Given the description of an element on the screen output the (x, y) to click on. 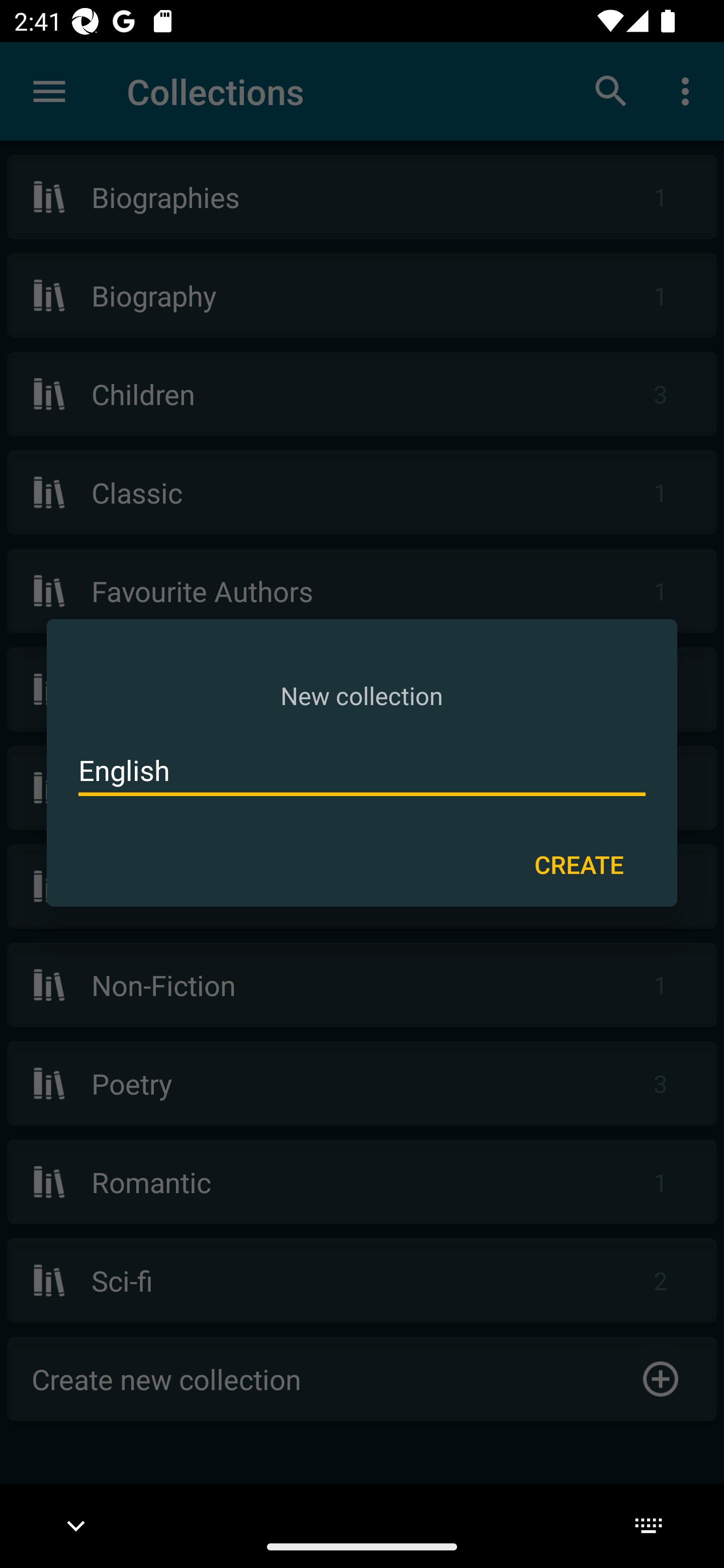
English (361, 770)
CREATE (578, 863)
